Given the description of an element on the screen output the (x, y) to click on. 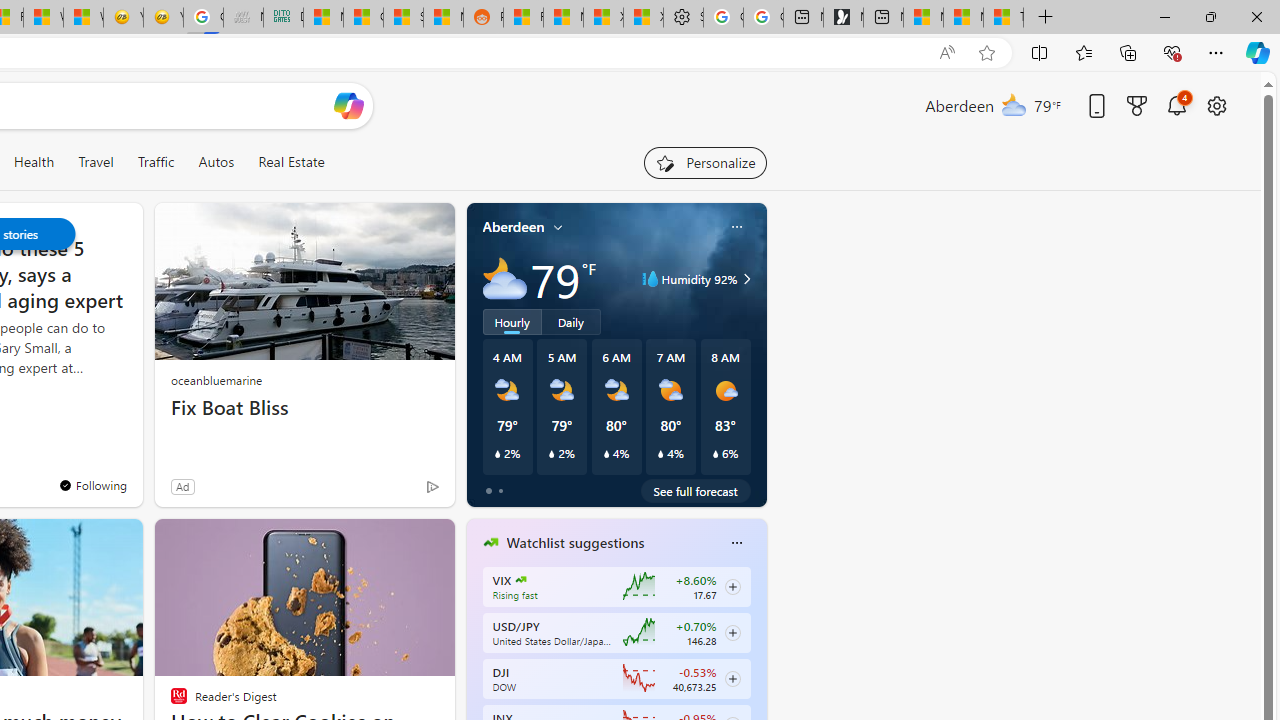
Hide this story (178, 542)
R******* | Trusted Community Engagement and Contributions (523, 17)
See full forecast (695, 490)
